Given the description of an element on the screen output the (x, y) to click on. 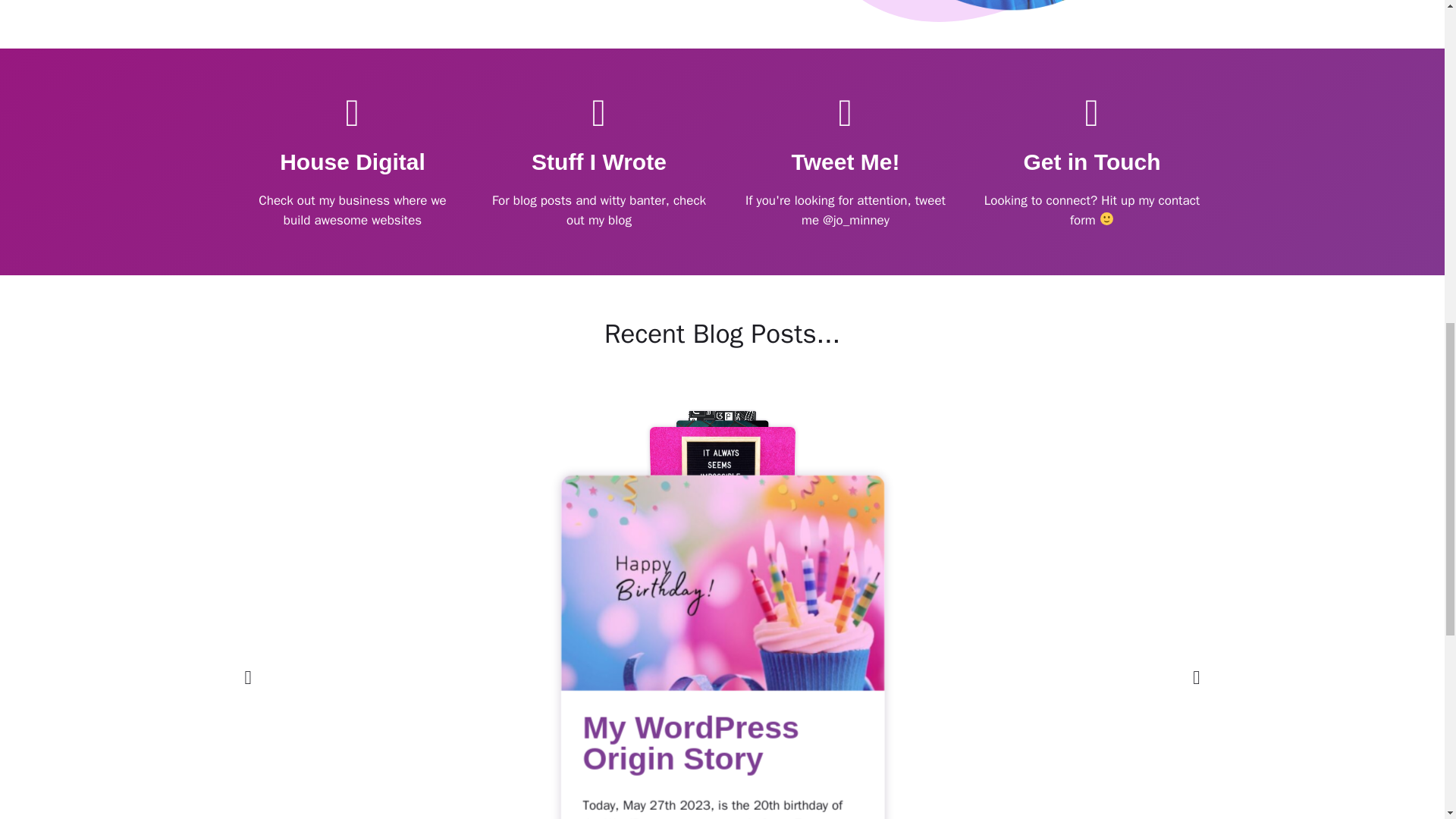
Tweet Me! (845, 161)
Stuff I Wrote (598, 161)
Typography: Stop Doing it Wrong. (786, 488)
Get in Touch (1091, 161)
My WordPress Origin Story (658, 733)
Dear Designer (757, 500)
House Digital (352, 161)
